Given the description of an element on the screen output the (x, y) to click on. 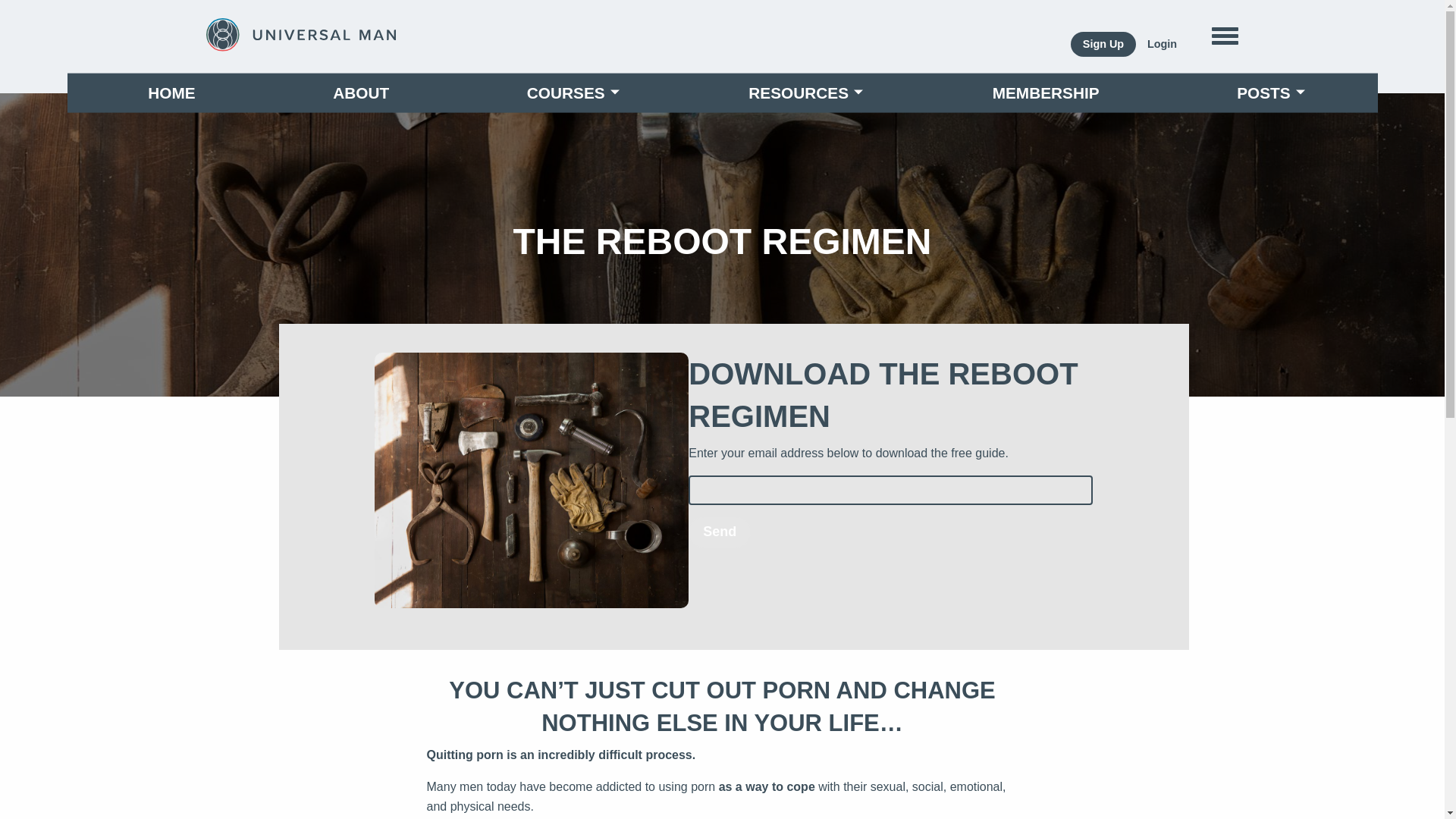
ABOUT (360, 92)
Sign Up (1102, 43)
HOME (170, 92)
POSTS (1266, 92)
MEMBERSHIP (1045, 92)
Send (719, 531)
Login (1162, 43)
COURSES (569, 92)
RESOURCES (801, 92)
